Given the description of an element on the screen output the (x, y) to click on. 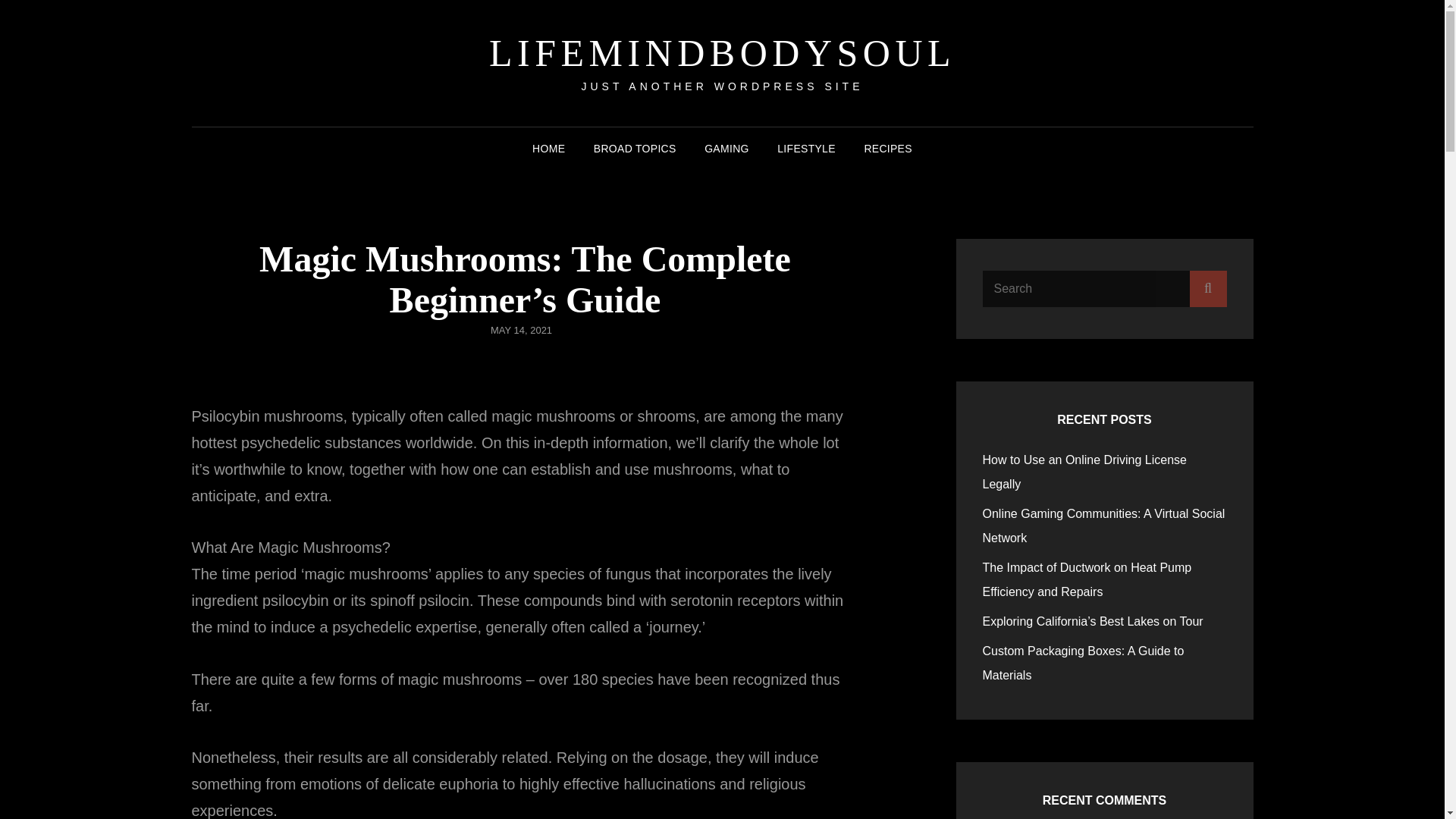
Custom Packaging Boxes: A Guide to Materials (1083, 662)
MAY 14, 2021 (520, 329)
LIFEMINDBODYSOUL (722, 52)
BROAD TOPICS (634, 148)
HOME (547, 148)
Online Gaming Communities: A Virtual Social Network (1103, 525)
RECIPES (887, 148)
GAMING (727, 148)
Search (1207, 288)
The Impact of Ductwork on Heat Pump Efficiency and Repairs (1087, 579)
